Given the description of an element on the screen output the (x, y) to click on. 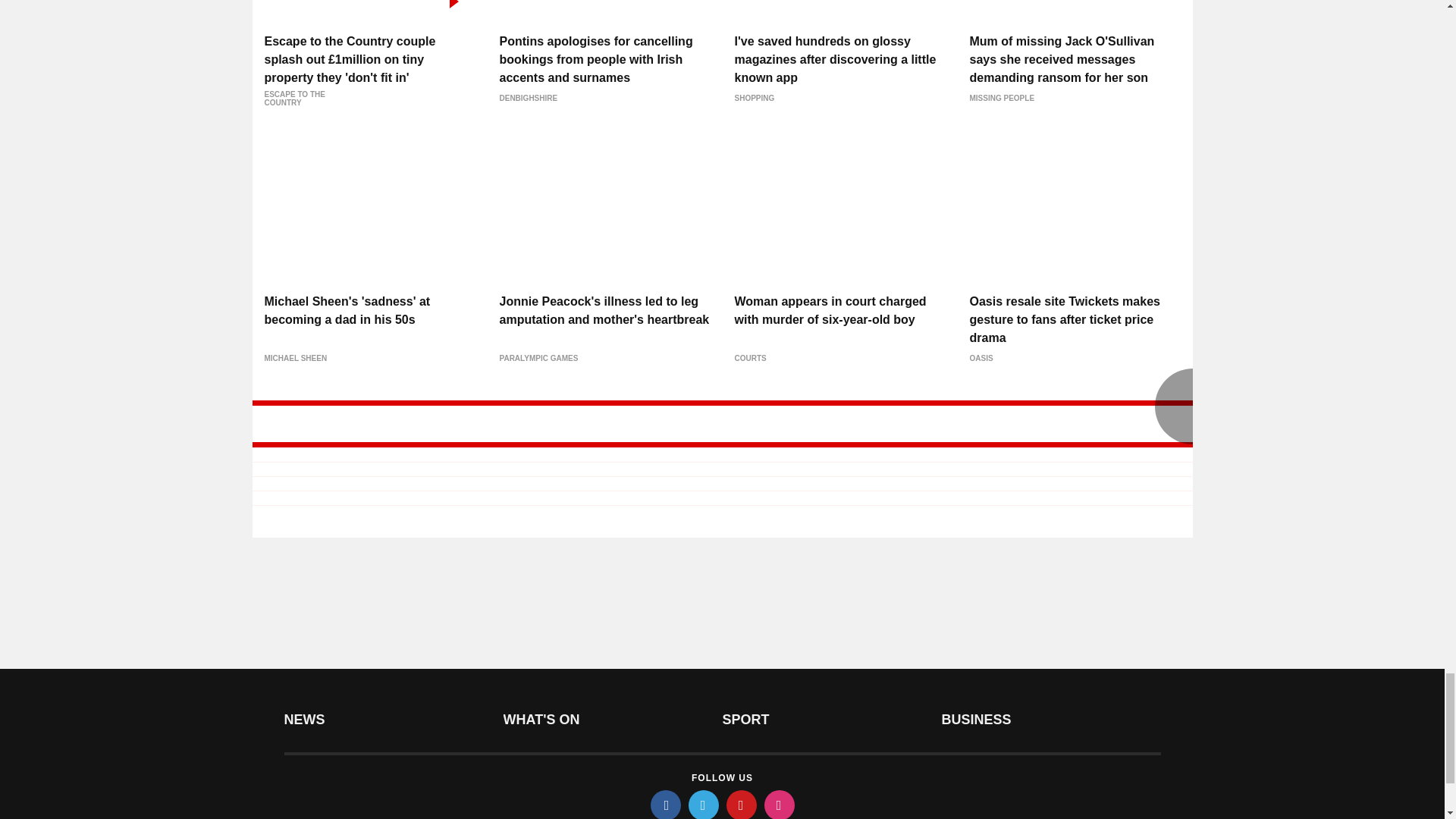
facebook (665, 804)
pinterest (741, 804)
twitter (703, 804)
instagram (779, 804)
